Given the description of an element on the screen output the (x, y) to click on. 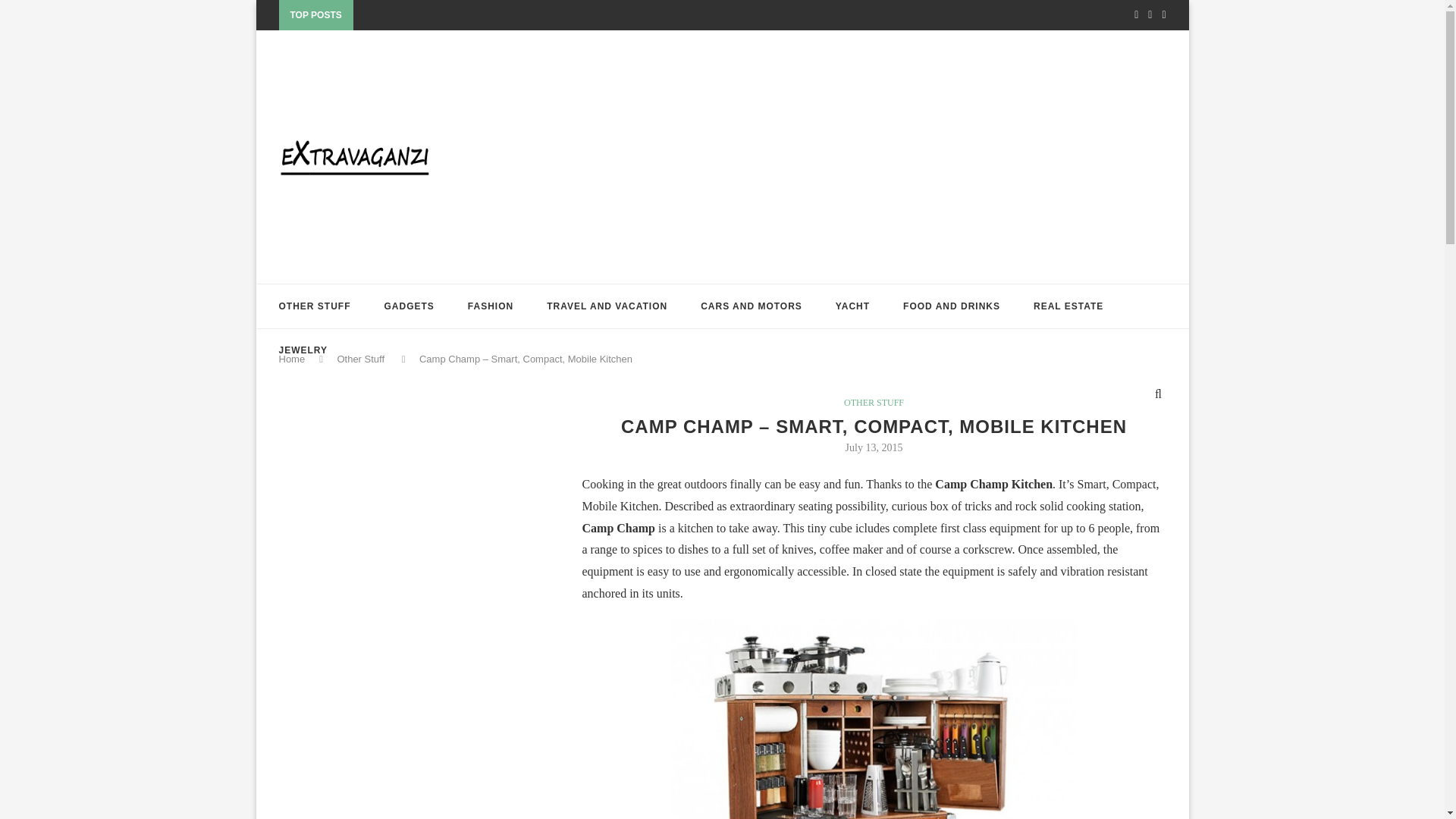
JEWELRY (304, 350)
View all posts in Other Stuff (874, 402)
FOOD AND DRINKS (951, 306)
OTHER STUFF (314, 306)
YACHT (852, 306)
CARS AND MOTORS (751, 306)
Home (292, 358)
GADGETS (408, 306)
REAL ESTATE (1068, 306)
FASHION (490, 306)
TRAVEL AND VACATION (606, 306)
